Given the description of an element on the screen output the (x, y) to click on. 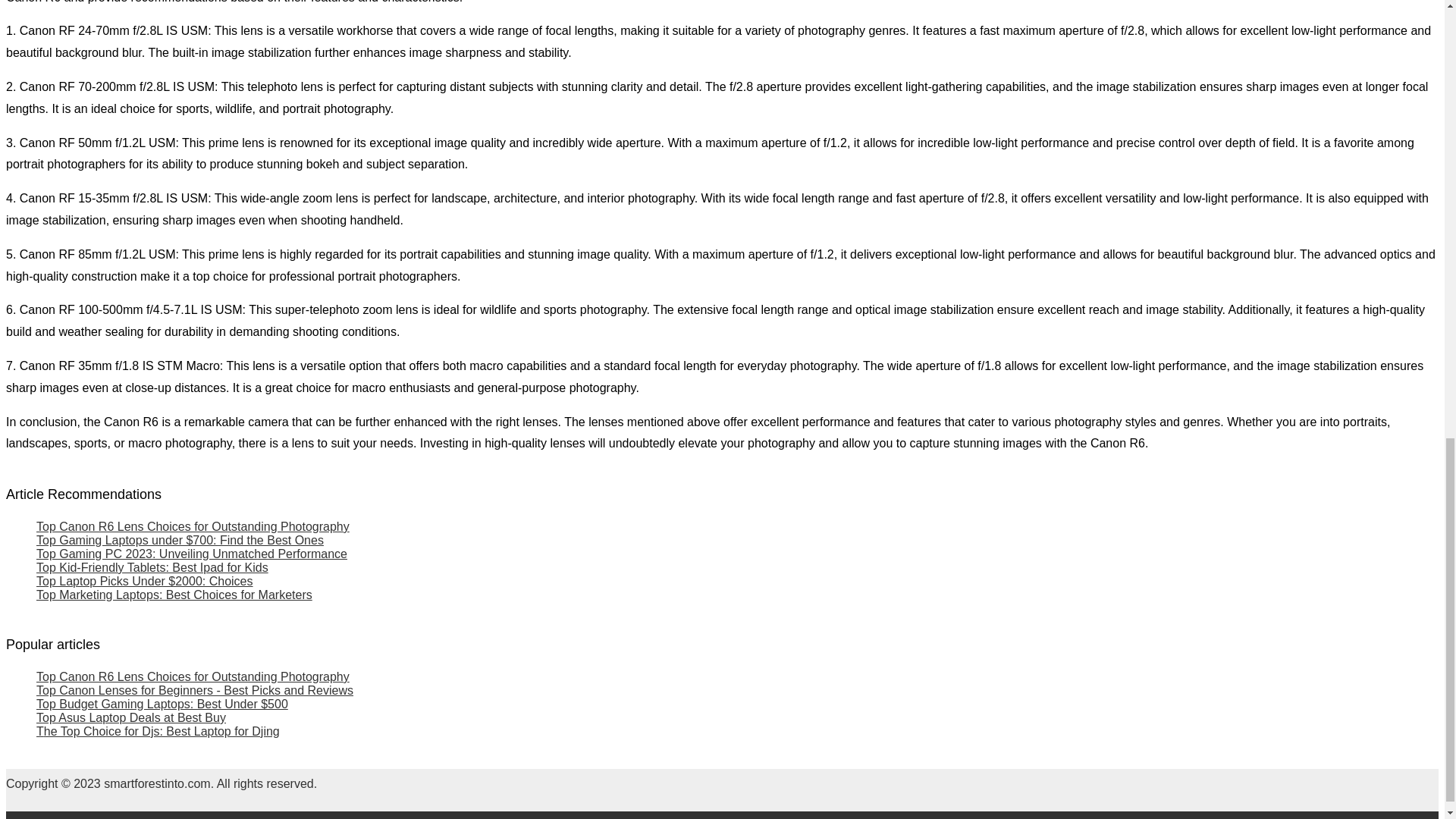
Top Canon Lenses for Beginners - Best Picks and Reviews (194, 689)
Top Asus Laptop Deals at Best Buy (130, 717)
Top Marketing Laptops: Best Choices for Marketers (174, 594)
Top Gaming PC 2023: Unveiling Unmatched Performance (191, 553)
The Top Choice for Djs: Best Laptop for Djing (157, 730)
Top Canon R6 Lens Choices for Outstanding Photography (192, 526)
Top Canon R6 Lens Choices for Outstanding Photography (192, 676)
Top Kid-Friendly Tablets: Best Ipad for Kids (151, 567)
